Given the description of an element on the screen output the (x, y) to click on. 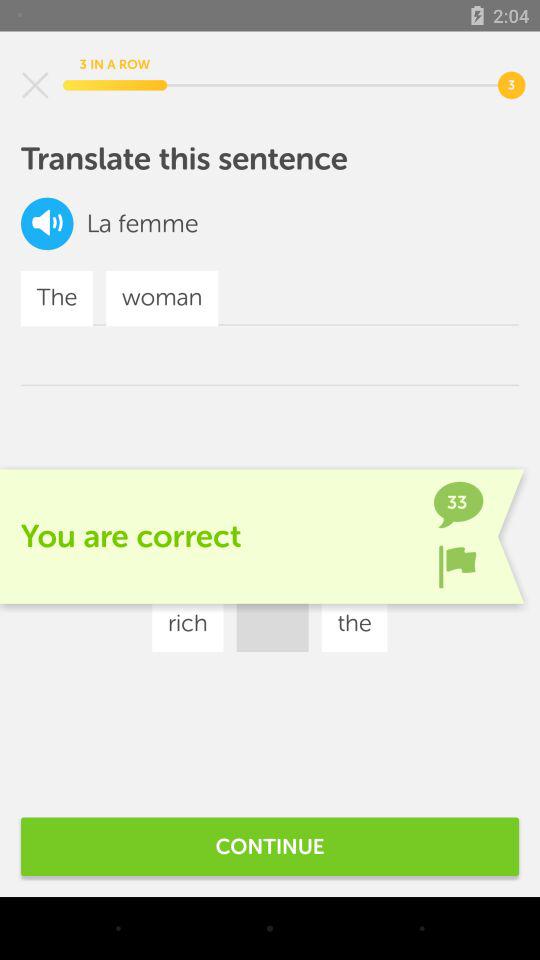
turn off icon next to the   icon (158, 223)
